Given the description of an element on the screen output the (x, y) to click on. 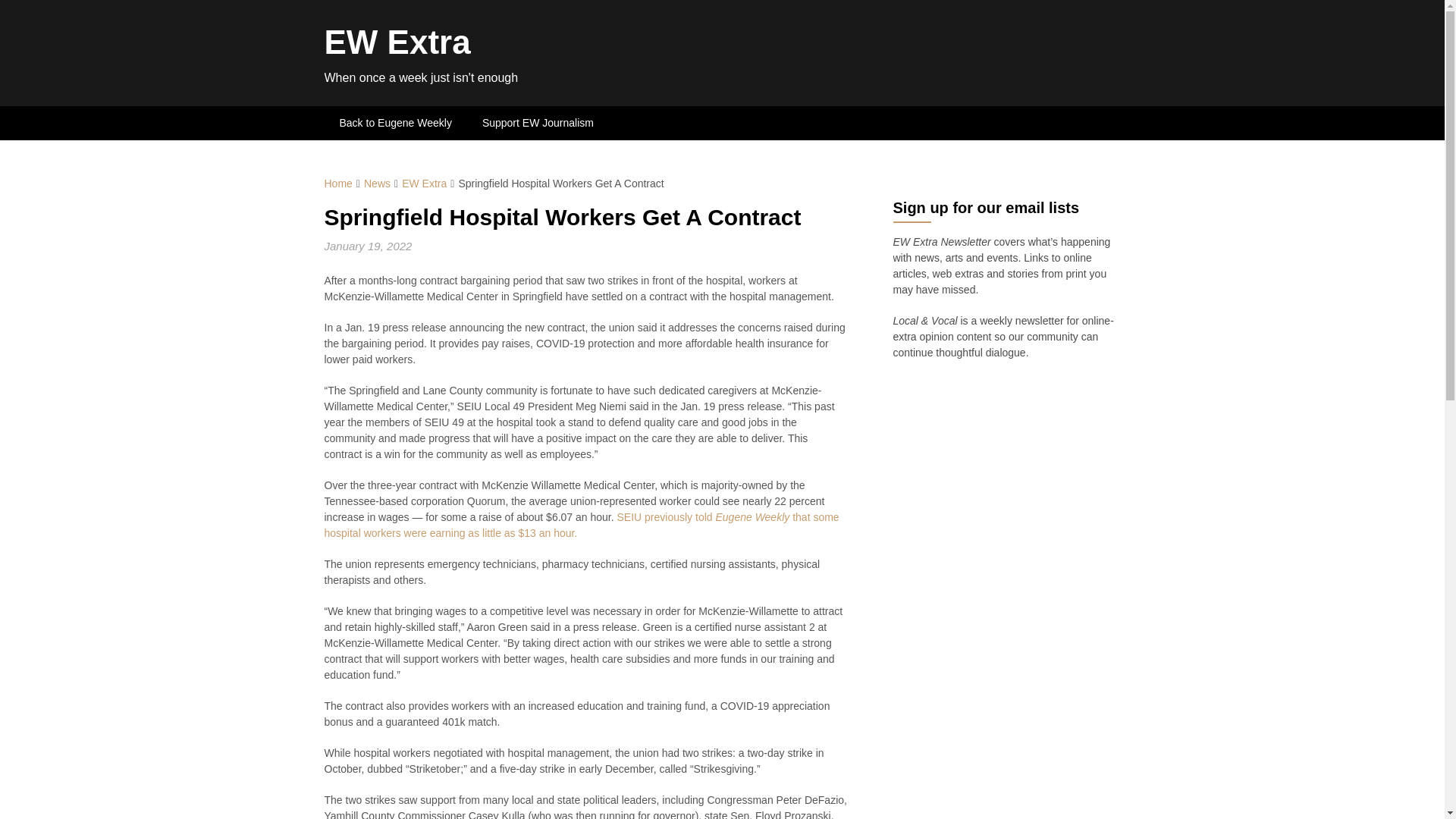
Back to Eugene Weekly (395, 123)
Support EW Journalism (537, 123)
Home (338, 183)
EW Extra (423, 183)
EW Extra (397, 41)
News (377, 183)
